Given the description of an element on the screen output the (x, y) to click on. 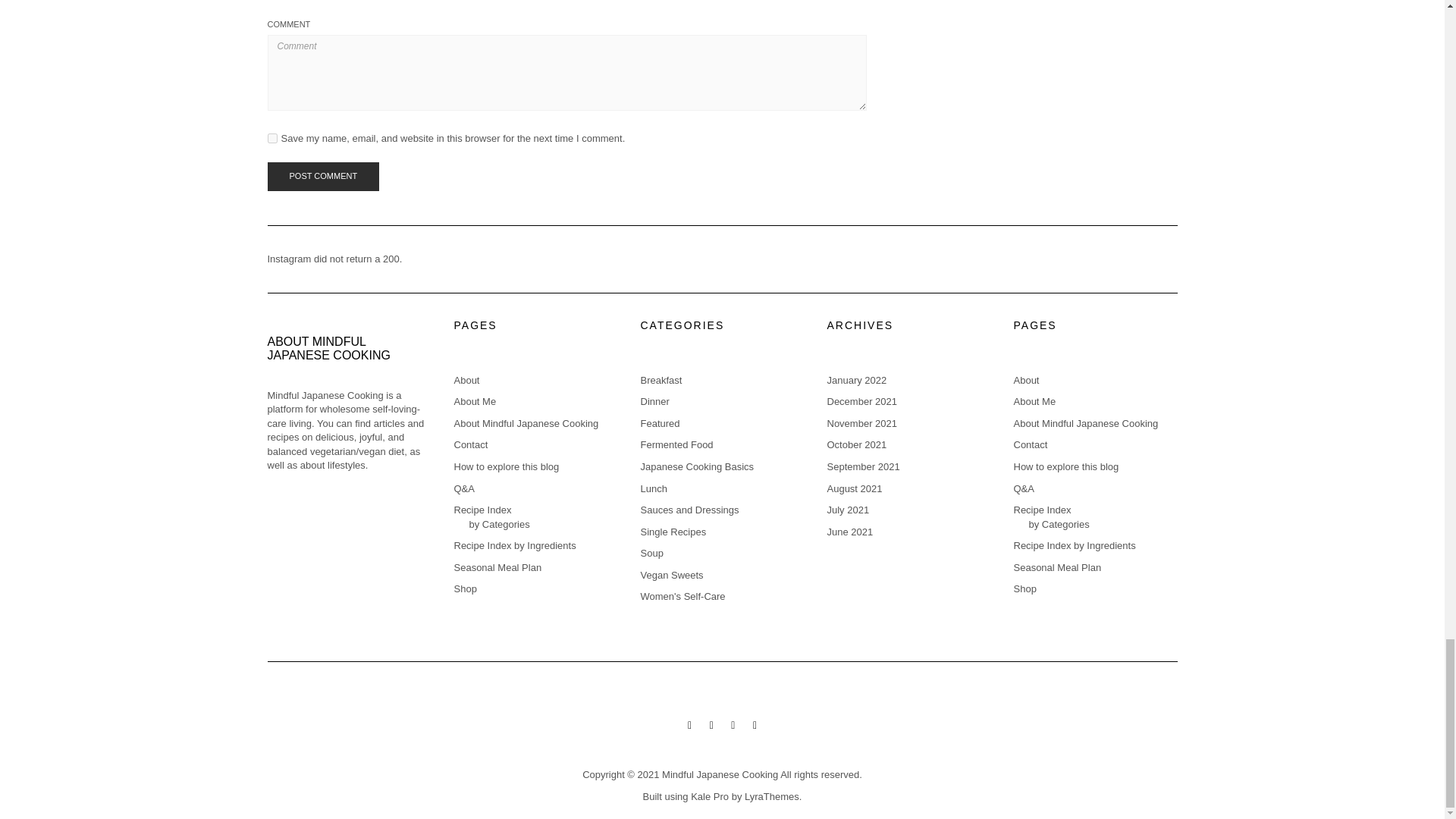
Post Comment (322, 176)
Post Comment (322, 176)
yes (271, 138)
